Given the description of an element on the screen output the (x, y) to click on. 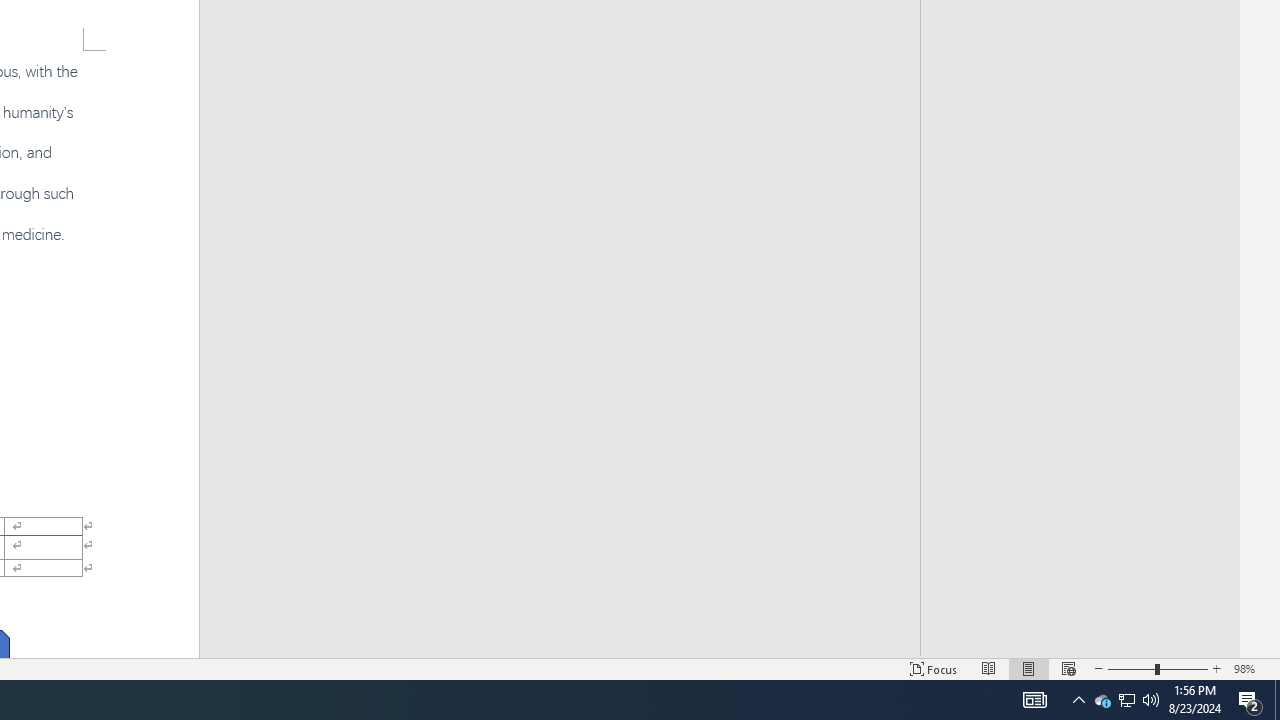
Zoom In (1217, 668)
Zoom Out (1131, 668)
Focus  (934, 668)
Zoom (1158, 668)
Read Mode (988, 668)
Web Layout (1069, 668)
Print Layout (1028, 668)
